Given the description of an element on the screen output the (x, y) to click on. 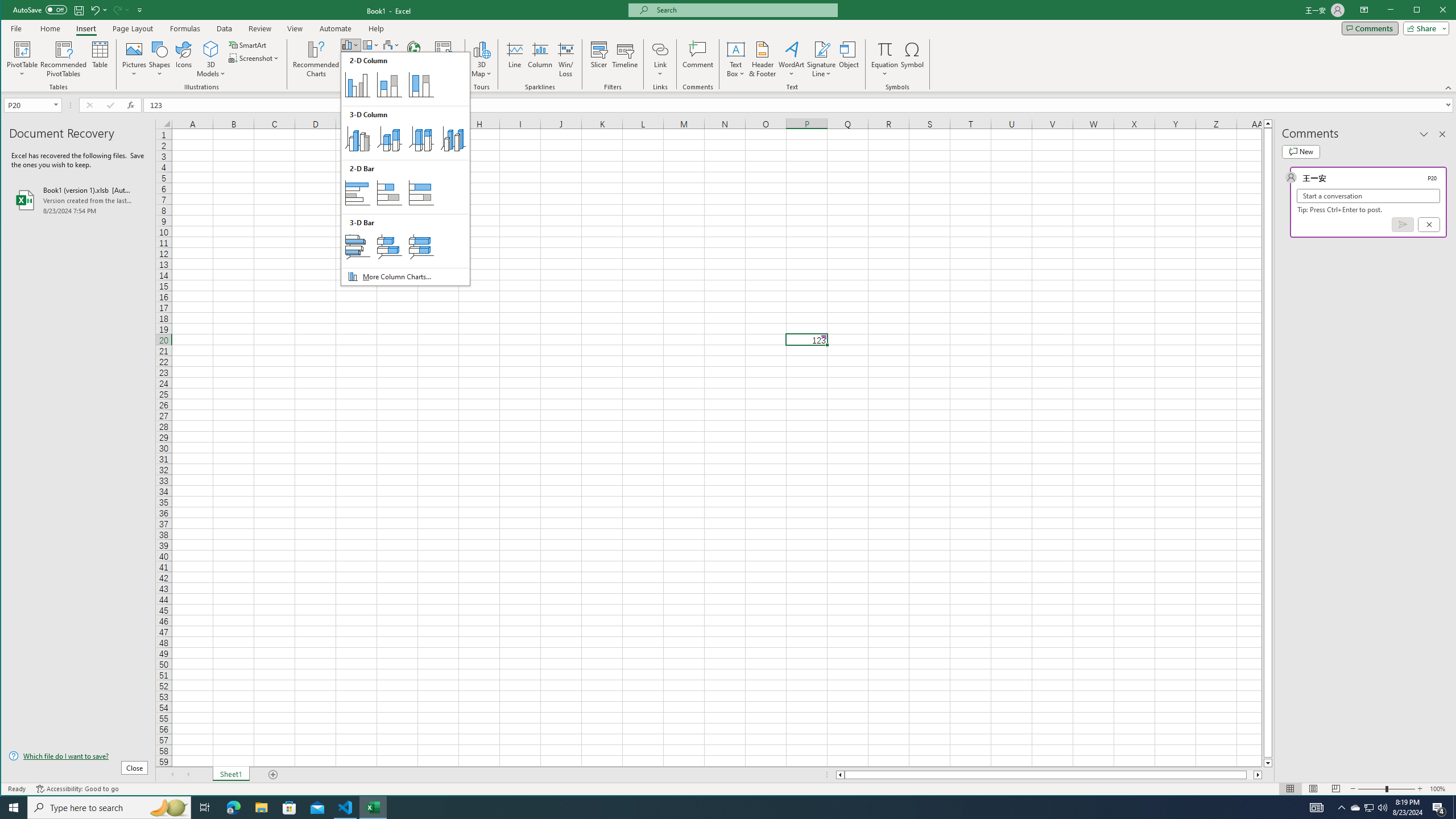
Page right (1368, 807)
Data (1249, 774)
Running applications (224, 28)
Microsoft Store (717, 807)
Insert Column or Bar Chart (289, 807)
Name Box (350, 44)
Minimize (27, 104)
Quick Access Toolbar (1419, 11)
Task Pane Options (79, 9)
New comment (1423, 133)
Search highlights icon opens search home window (1300, 151)
Undo (167, 807)
Maximize (98, 9)
